Given the description of an element on the screen output the (x, y) to click on. 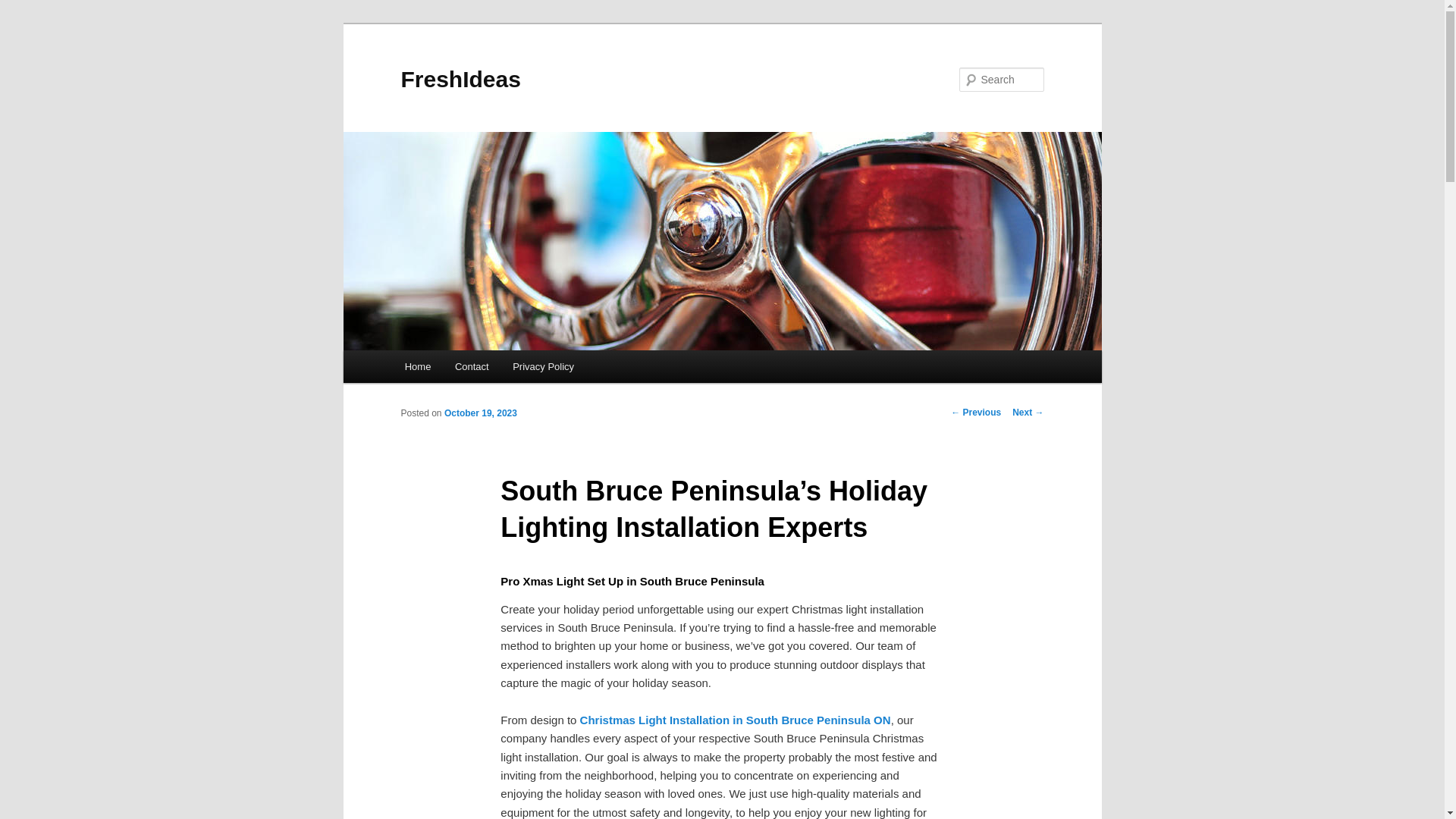
Contact (471, 366)
Search (24, 8)
Christmas Light Installation in South Bruce Peninsula ON (735, 719)
October 19, 2023 (480, 412)
8:34 am (480, 412)
Privacy Policy (542, 366)
FreshIdeas (459, 78)
Home (417, 366)
